Given the description of an element on the screen output the (x, y) to click on. 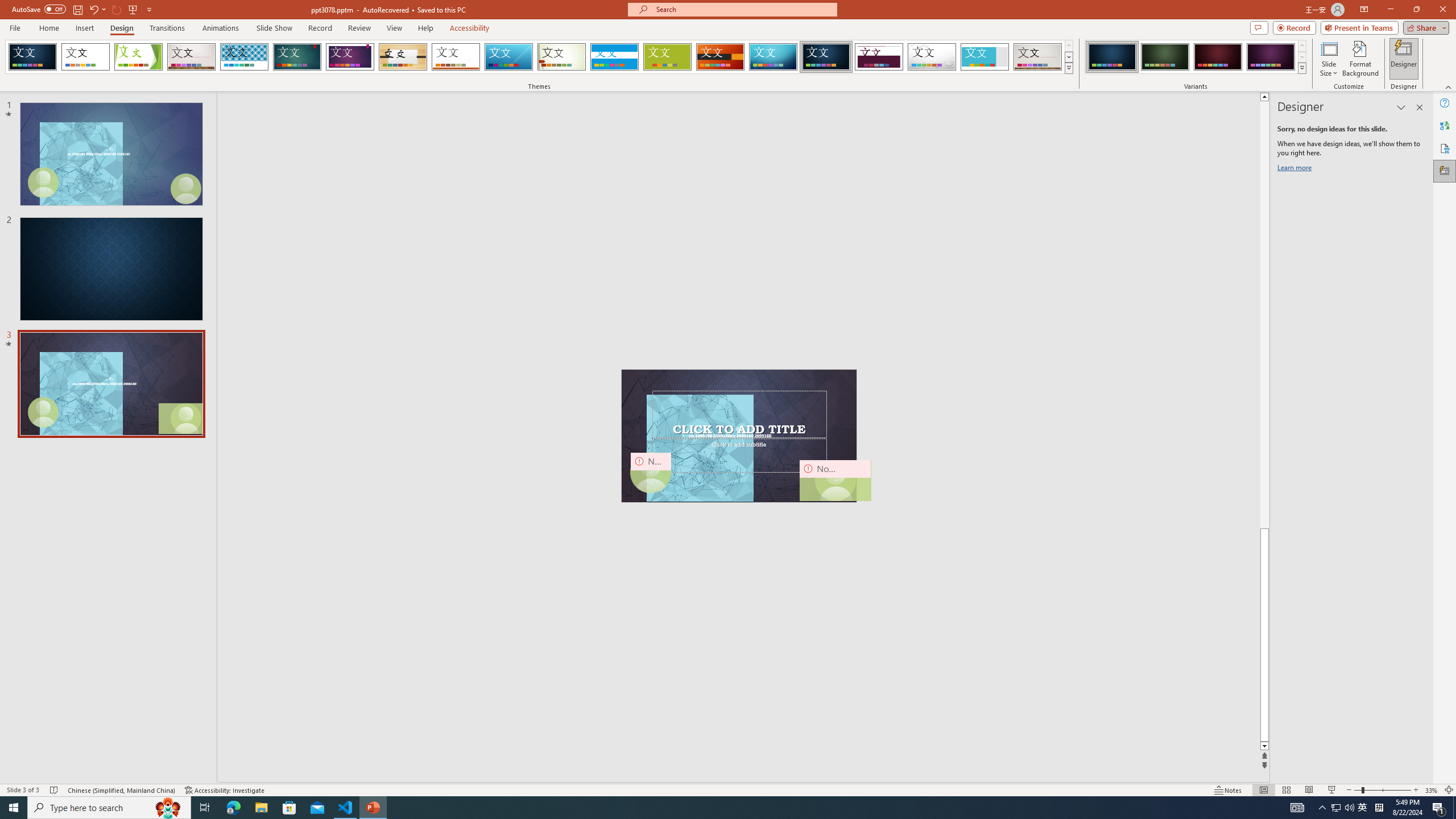
Integral (244, 56)
Subtitle TextBox (739, 455)
Variants (1301, 67)
Frame (984, 56)
